Given the description of an element on the screen output the (x, y) to click on. 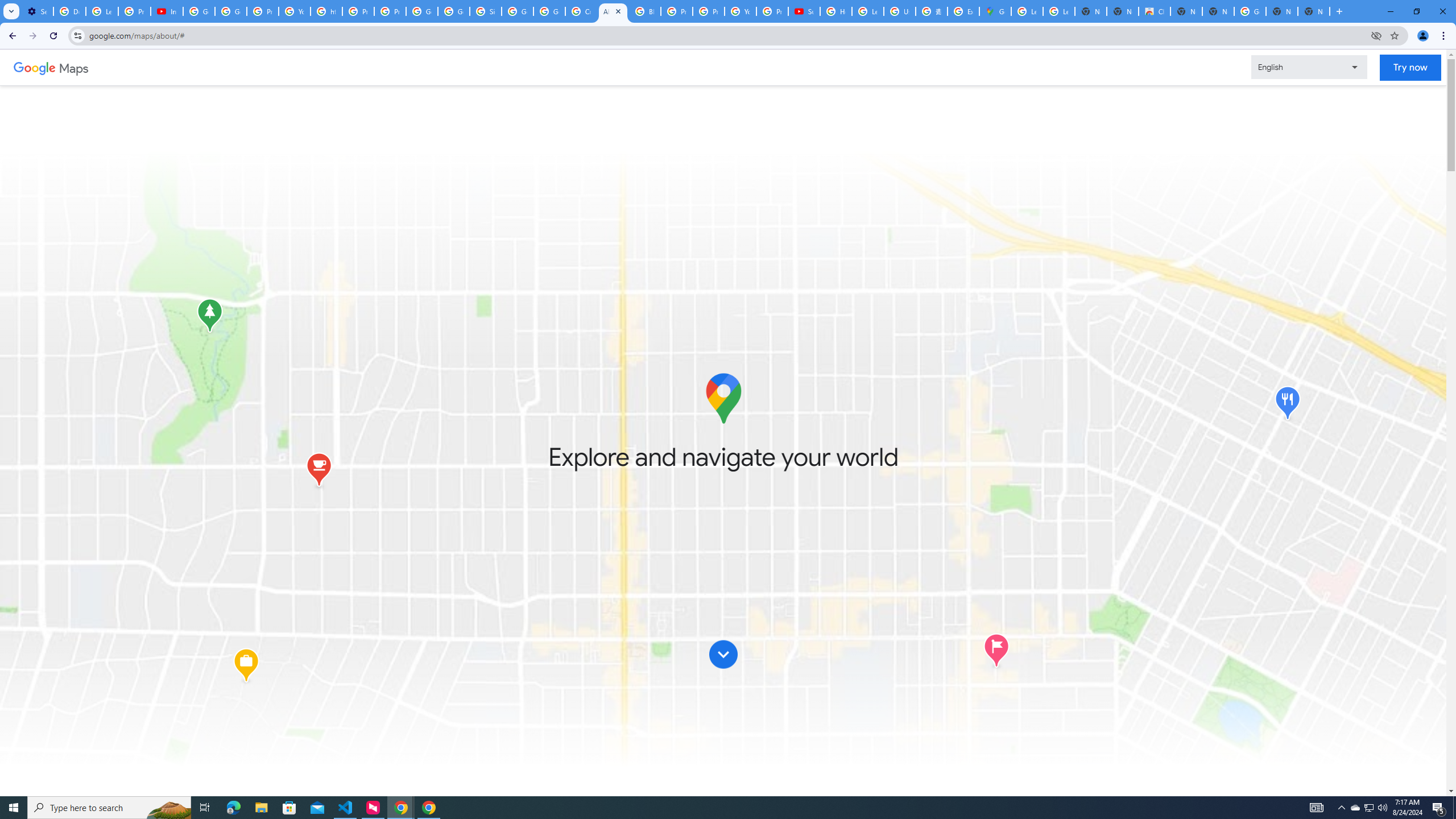
New Tab (1313, 11)
Change language or region (1308, 66)
Explore new street-level details - Google Maps Help (963, 11)
Google Maps logo (722, 398)
Google Images (1249, 11)
Delete photos & videos - Computer - Google Photos Help (69, 11)
